Given the description of an element on the screen output the (x, y) to click on. 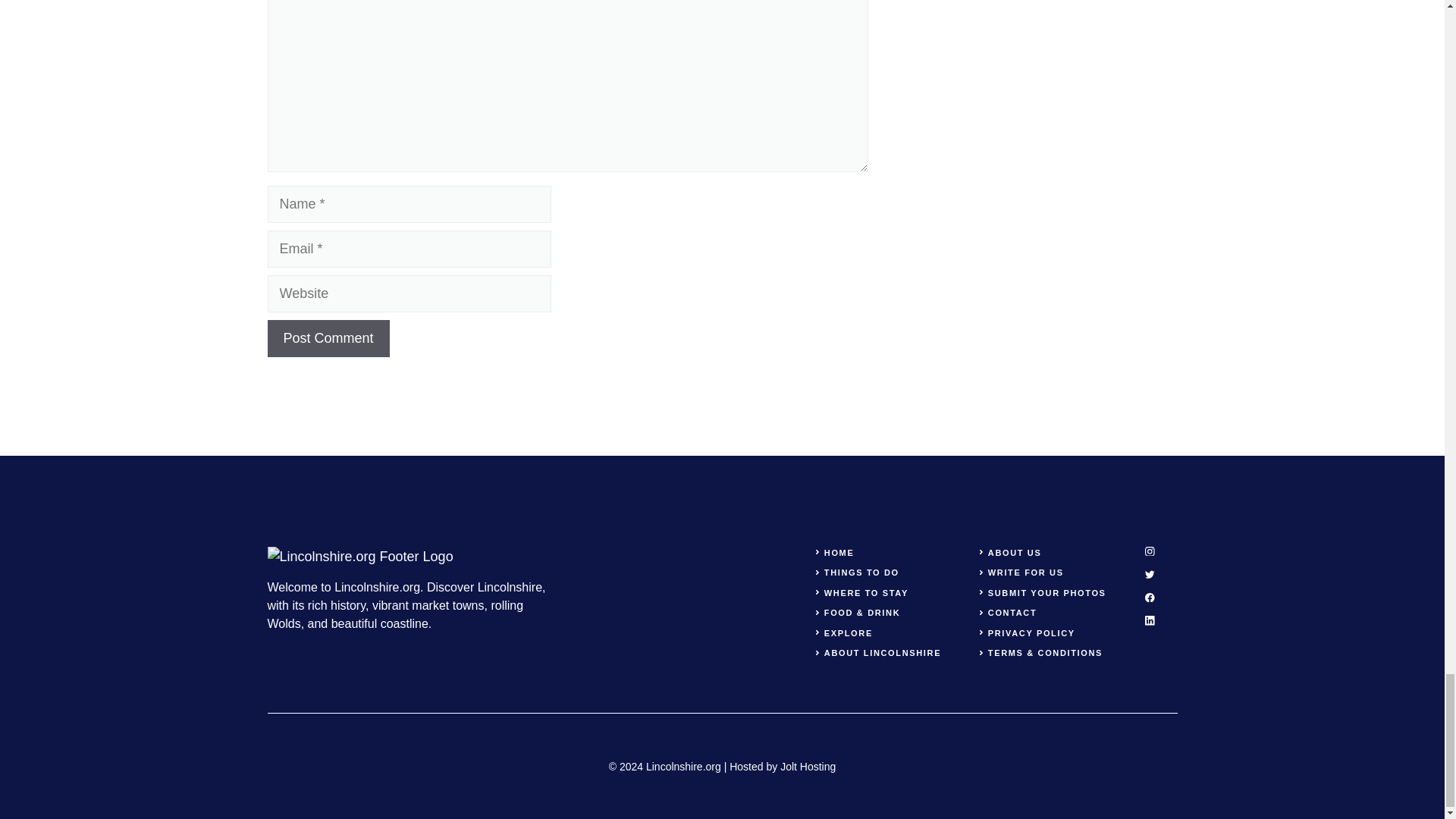
Post Comment (327, 338)
Lincolshire-org-footer-logo (359, 557)
Post Comment (327, 338)
